Given the description of an element on the screen output the (x, y) to click on. 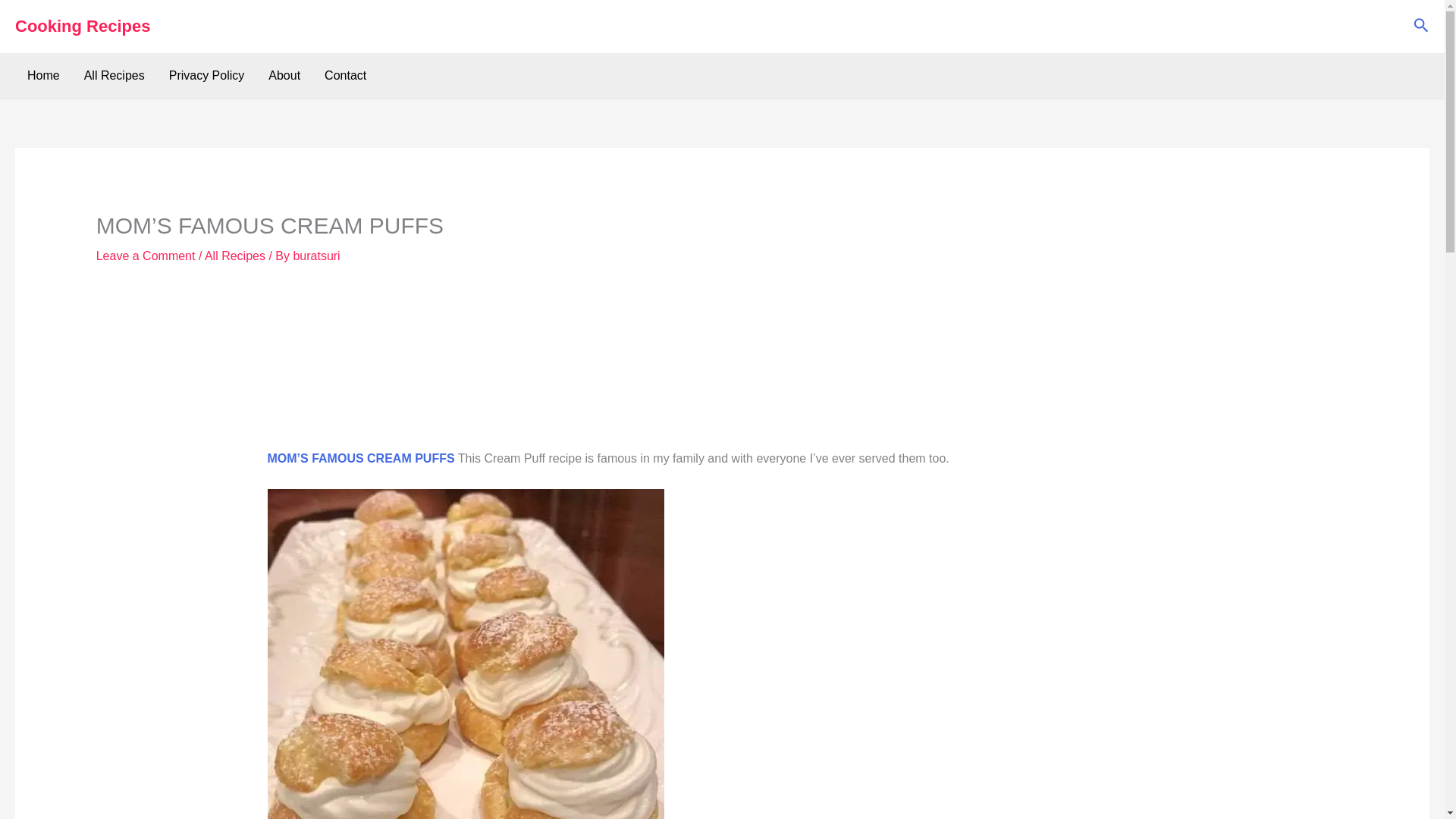
Privacy Policy (207, 75)
All Recipes (234, 255)
Contact (345, 75)
buratsuri (315, 255)
Home (42, 75)
About (284, 75)
View all posts by buratsuri (315, 255)
Cooking Recipes (81, 26)
Leave a Comment (145, 255)
Advertisement (550, 365)
All Recipes (114, 75)
